Given the description of an element on the screen output the (x, y) to click on. 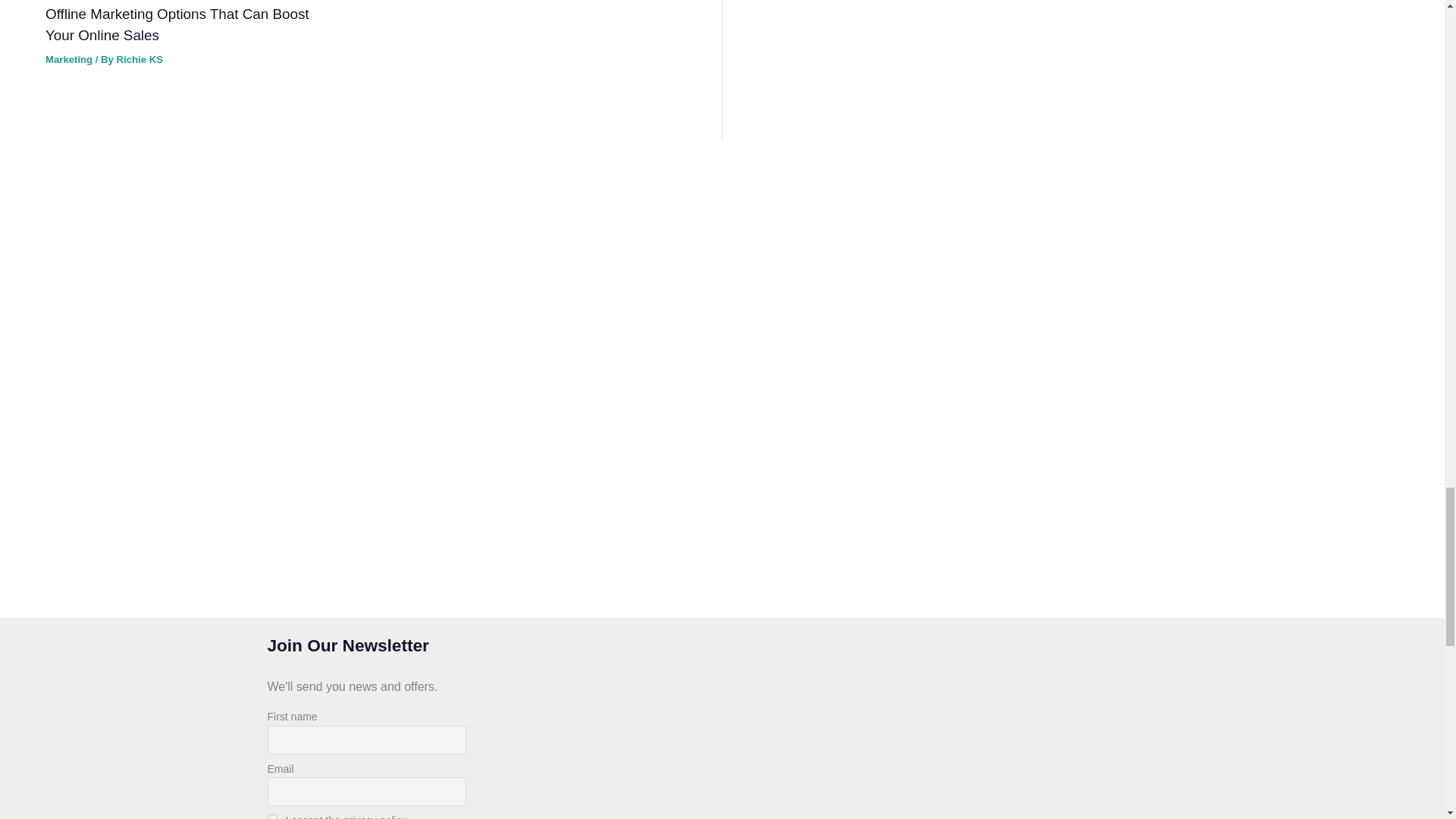
Richie KS (139, 59)
on (271, 816)
Marketing (69, 59)
Offline Marketing Options That Can Boost Your Online Sales (176, 24)
View all posts by Richie KS (139, 59)
